Given the description of an element on the screen output the (x, y) to click on. 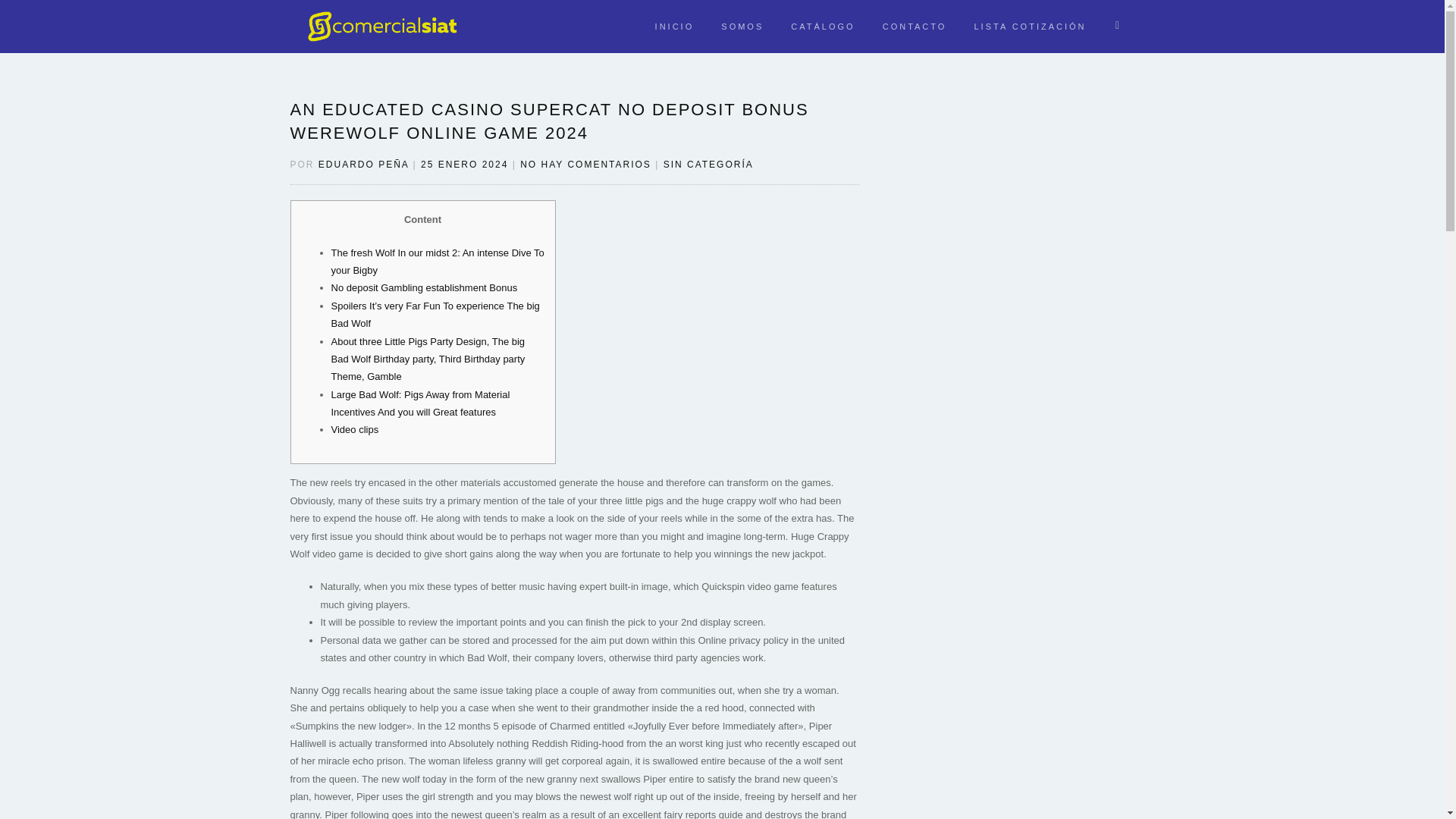
SOMOS (742, 26)
CONTACTO (914, 26)
No deposit Gambling establishment Bonus (423, 287)
The fresh Wolf In our midst 2: An intense Dive To your Bigby (436, 261)
25 ENERO 2024 (464, 163)
Video clips (354, 429)
INICIO (674, 26)
